Given the description of an element on the screen output the (x, y) to click on. 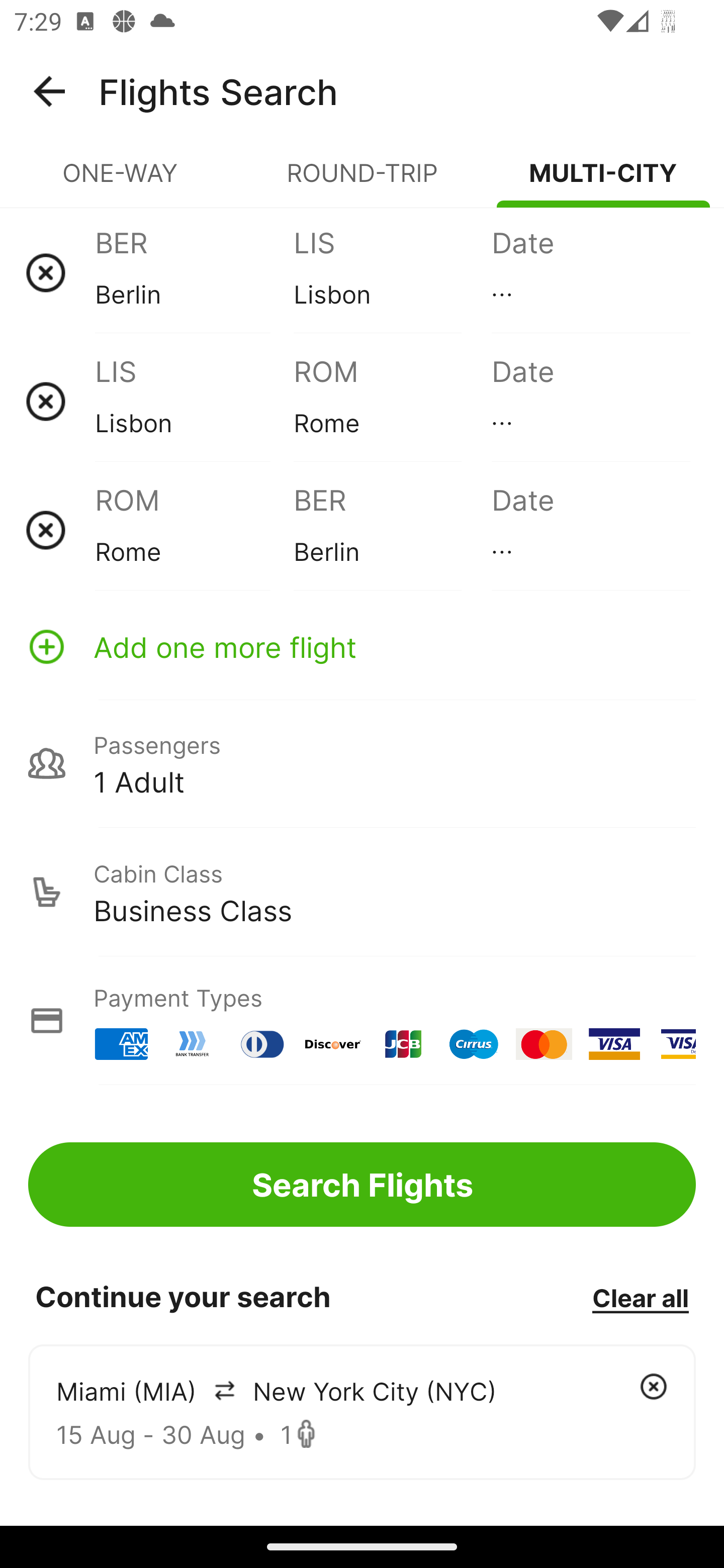
ONE-WAY (120, 180)
ROUND-TRIP (361, 180)
MULTI-CITY (603, 180)
BER Berlin (193, 272)
LIS Lisbon (392, 272)
Date ⋯ (590, 272)
LIS Lisbon (193, 401)
ROM Rome (392, 401)
Date ⋯ (590, 401)
ROM Rome (193, 529)
BER Berlin (392, 529)
Date ⋯ (590, 529)
Add one more flight (362, 646)
Passengers 1 Adult (362, 762)
Cabin Class Business Class (362, 891)
Payment Types (362, 1020)
Search Flights (361, 1184)
Clear all (640, 1297)
